Given the description of an element on the screen output the (x, y) to click on. 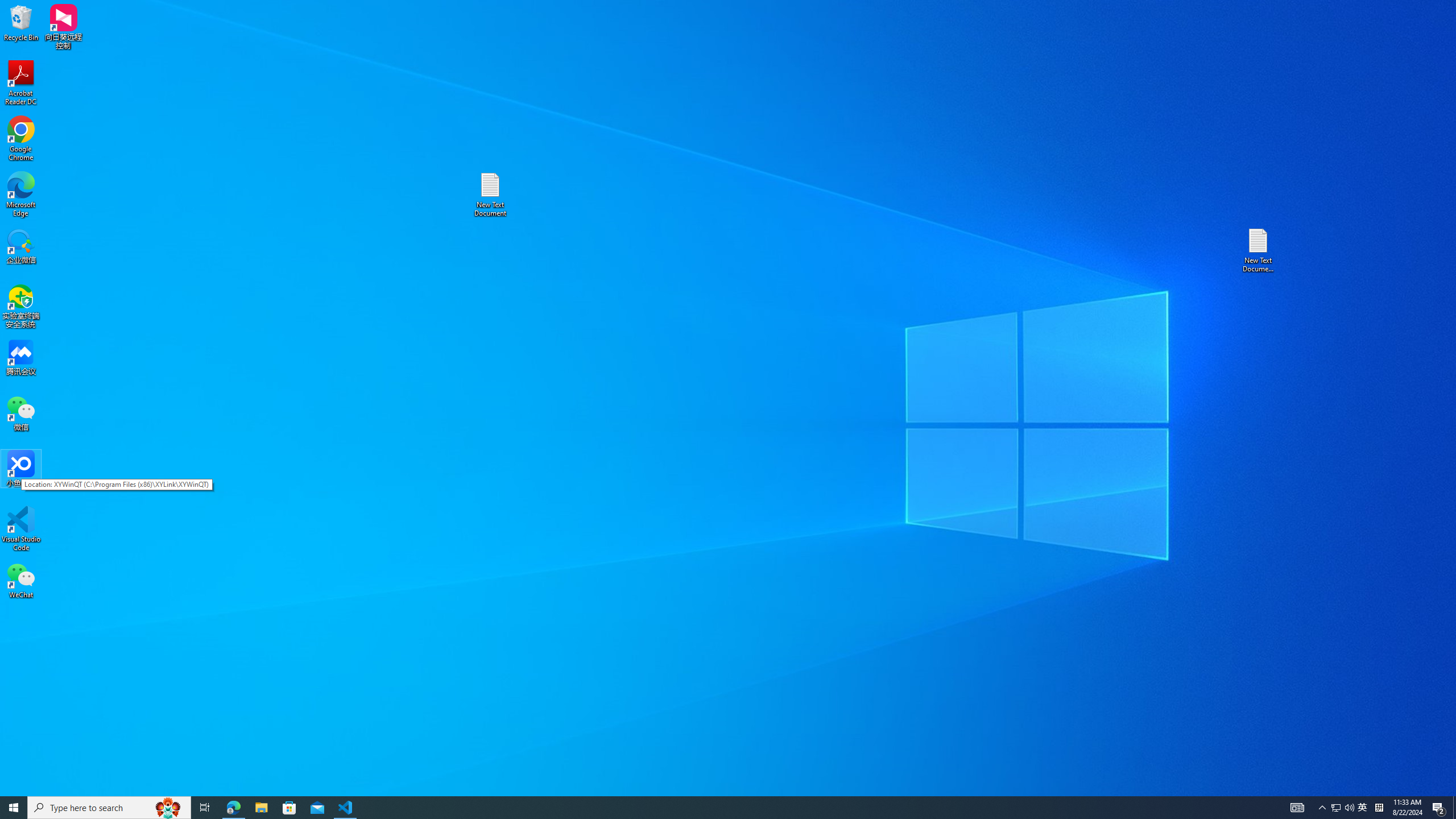
Acrobat Reader DC (21, 82)
Google Chrome (1362, 807)
